Given the description of an element on the screen output the (x, y) to click on. 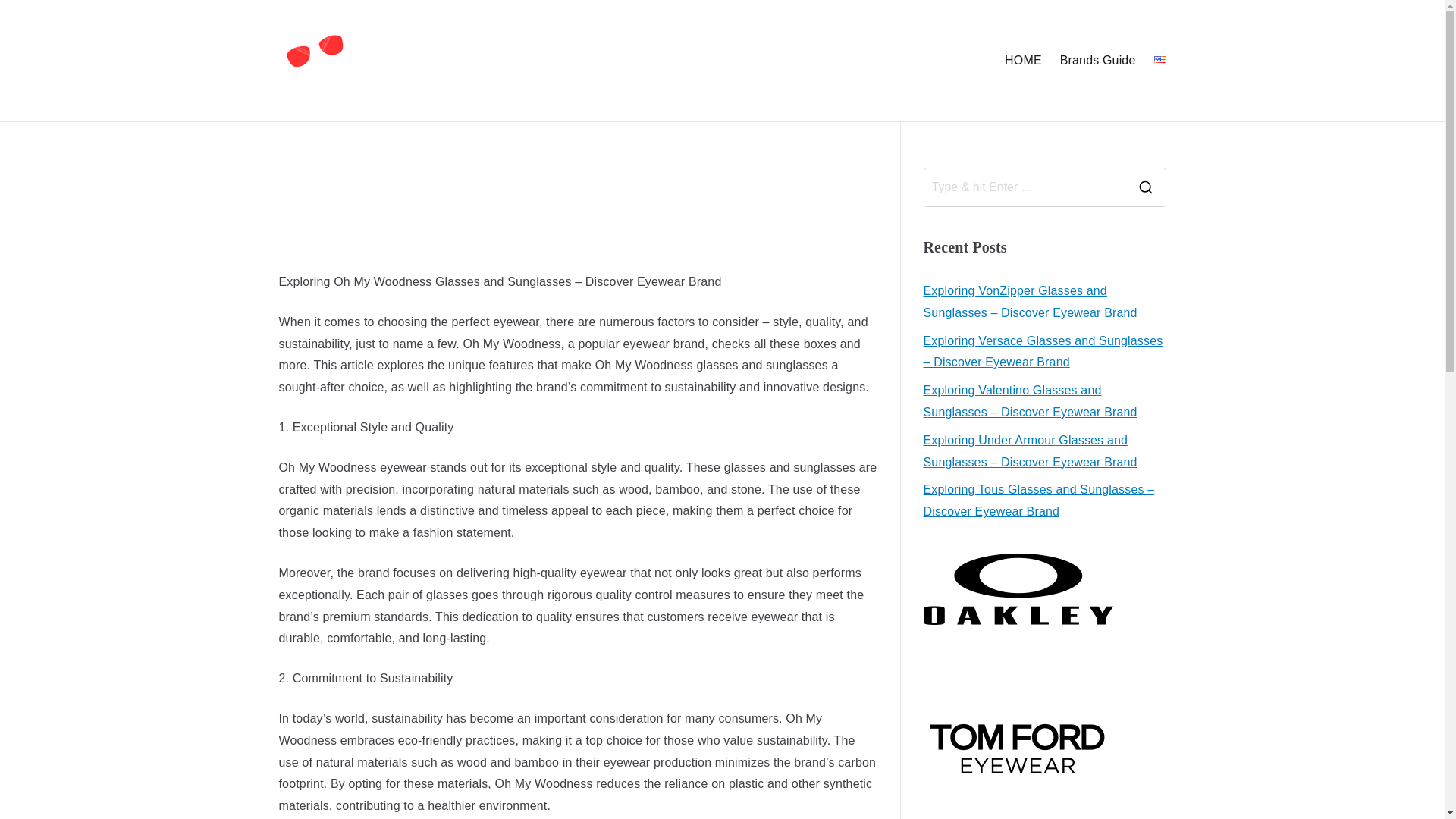
HOME (1023, 60)
Brands Guide (1097, 60)
Search (26, 18)
Search for: (1024, 187)
newraybsunglassess.com (740, 80)
